Given the description of an element on the screen output the (x, y) to click on. 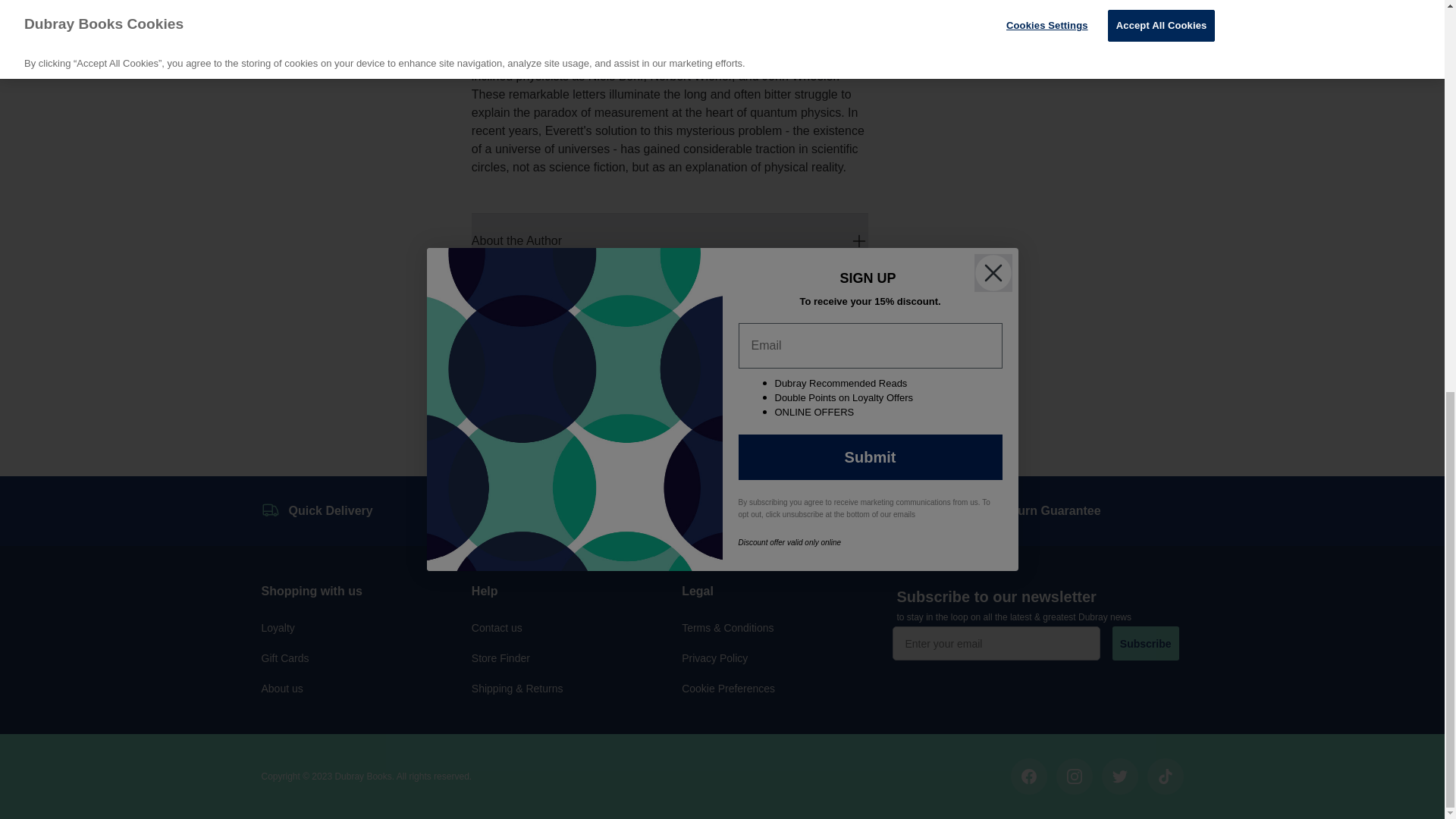
About us (281, 688)
About the Author (669, 240)
Loyalty (277, 627)
Gift Cards (284, 657)
Store Finder (500, 657)
Delivery Information (669, 296)
Product Details (669, 351)
Contact us (496, 627)
